Given the description of an element on the screen output the (x, y) to click on. 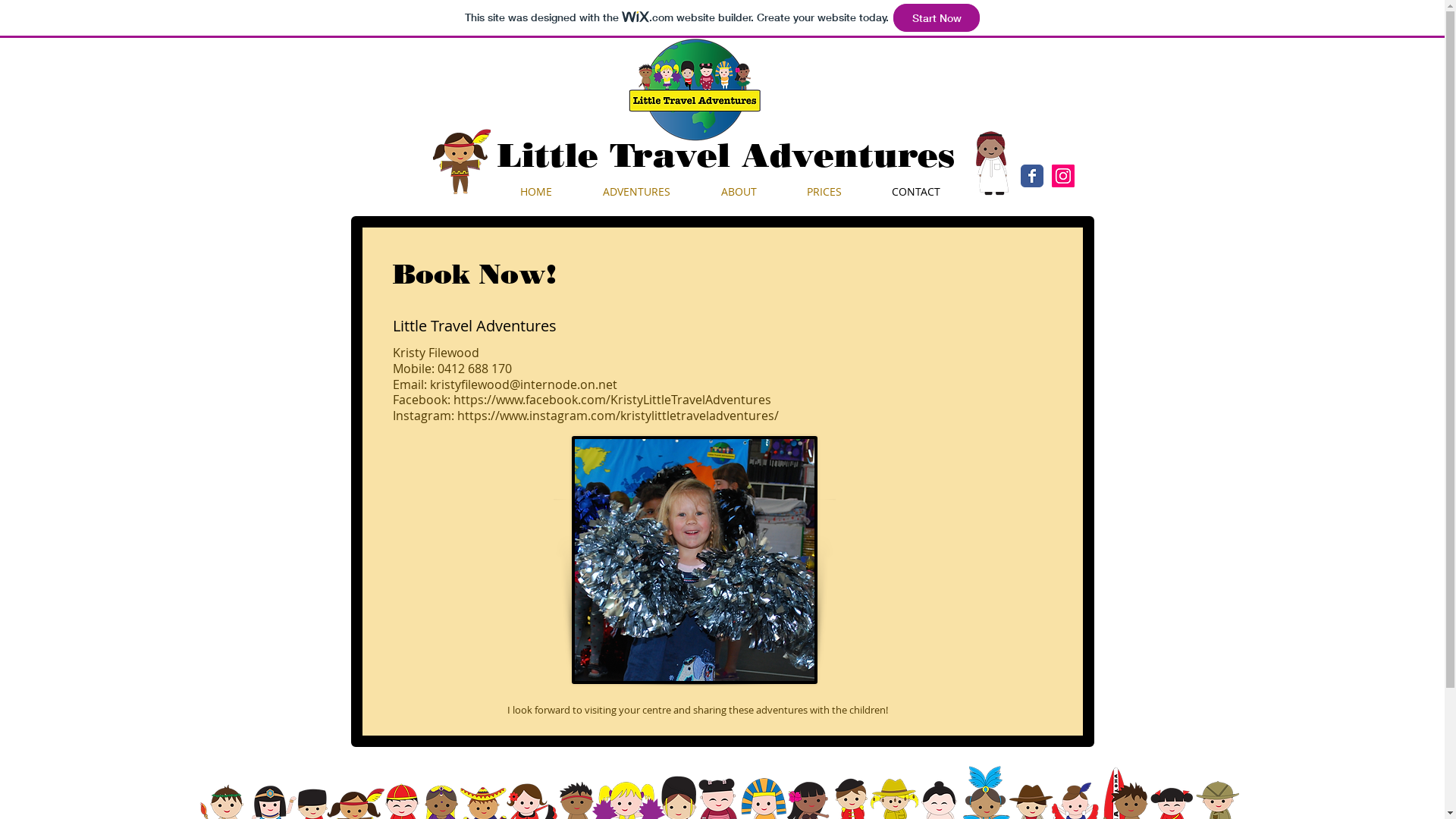
HOME Element type: text (535, 191)
Jordanian boy.png Element type: hover (992, 163)
ADVENTURES Element type: text (636, 191)
ABOUT Element type: text (738, 191)
kristyfilewood@internode.on.net Element type: text (522, 384)
CONTACT Element type: text (915, 191)
https://www.facebook.com/KristyLittleTravelAdventures Element type: text (612, 399)
https://www.instagram.com/kristylittletraveladventures/ Element type: text (617, 415)
PRICES Element type: text (823, 191)
Logo.png Element type: hover (700, 89)
